Given the description of an element on the screen output the (x, y) to click on. 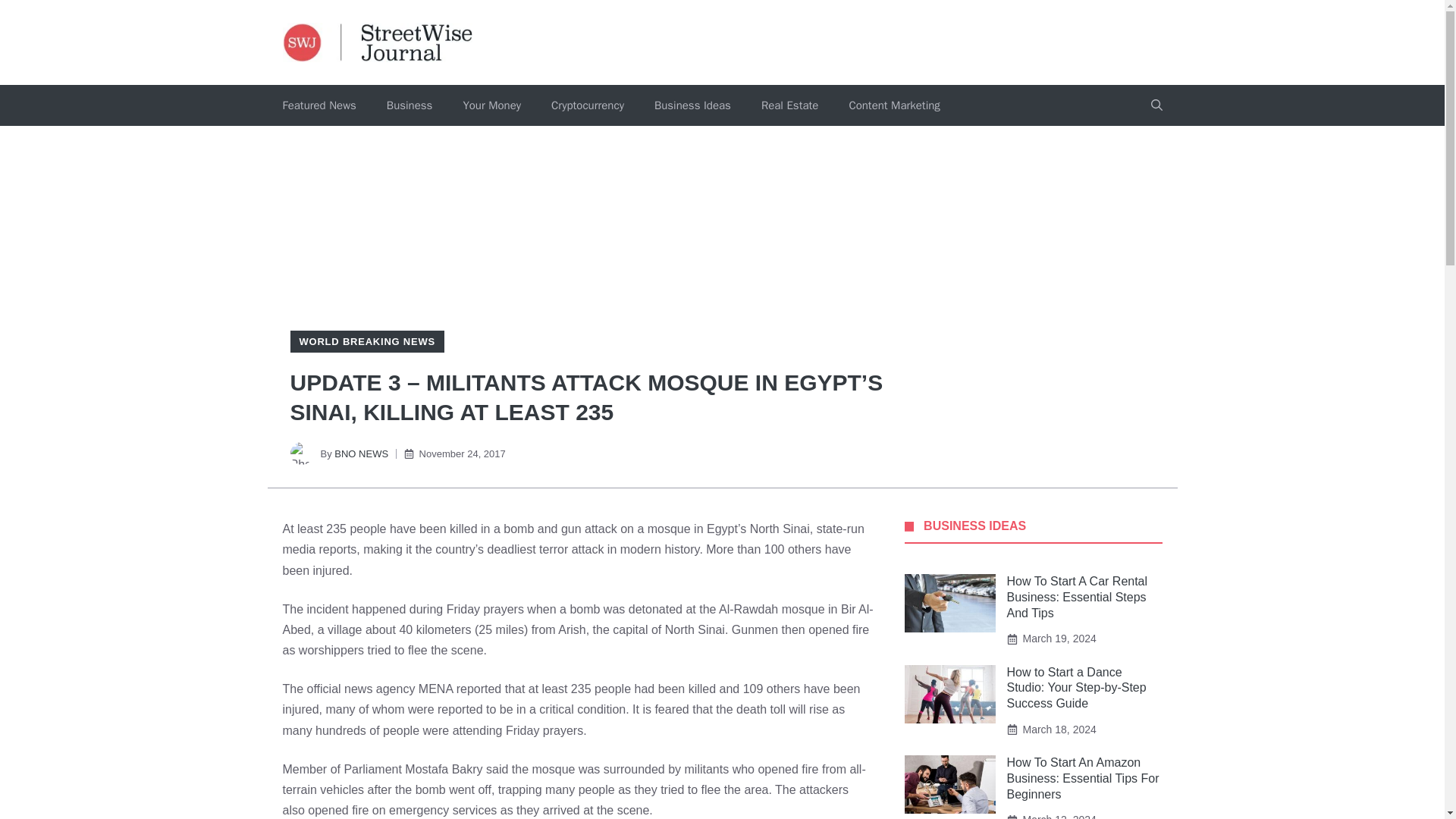
Real Estate (788, 105)
WORLD BREAKING NEWS (365, 341)
Business Ideas (692, 105)
Cryptocurrency (587, 105)
Content Marketing (893, 105)
Business (409, 105)
BNO NEWS (361, 453)
How to Start a Dance Studio: Your Step-by-Step Success Guide (1077, 687)
How To Start A Car Rental Business: Essential Steps And Tips (1077, 596)
